Given the description of an element on the screen output the (x, y) to click on. 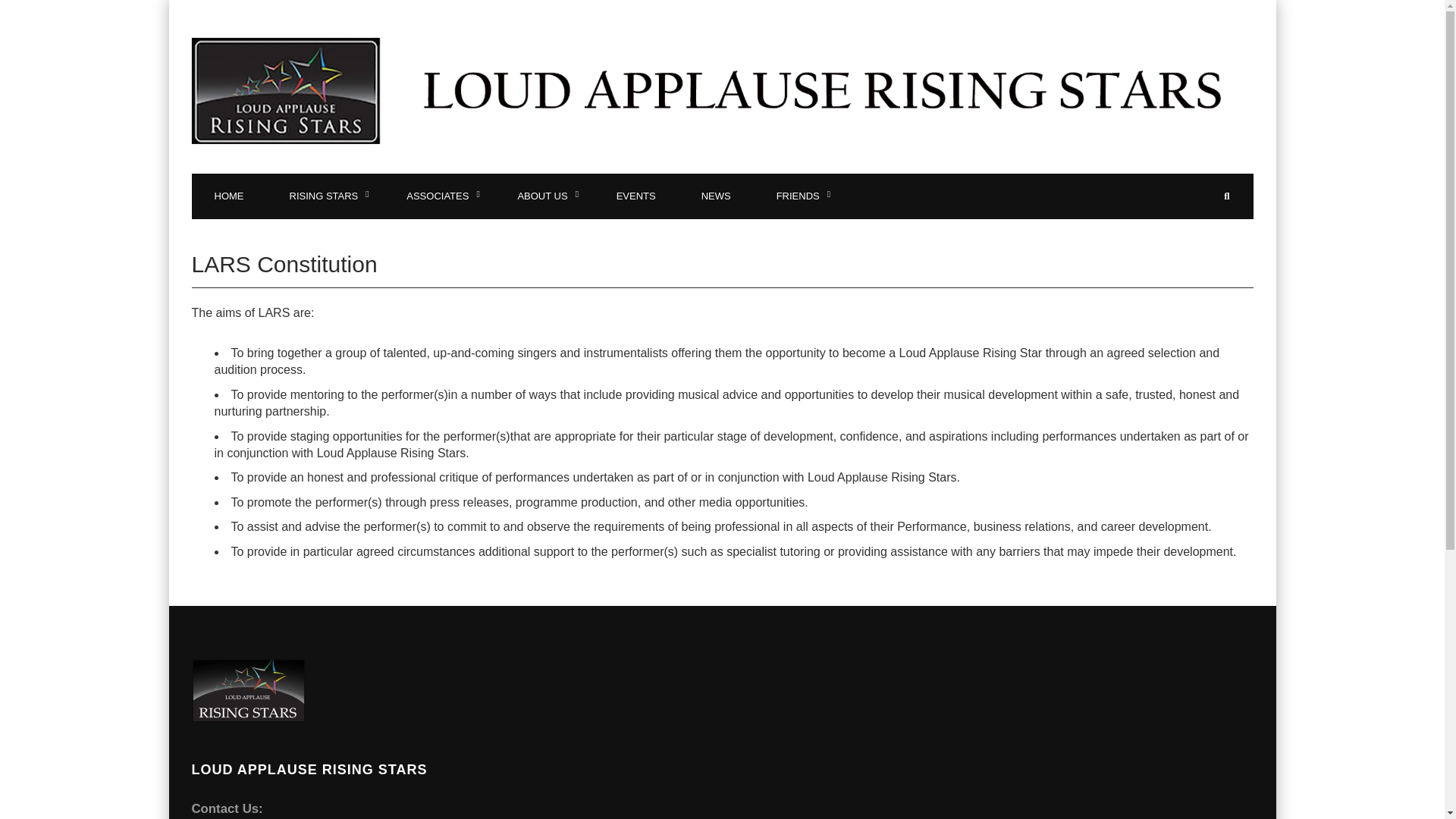
RISING STARS (325, 196)
NEWS (716, 196)
lars logo (247, 691)
HOME (228, 196)
FRIENDS (799, 196)
ABOUT US (543, 196)
ASSOCIATES (439, 196)
EVENTS (636, 196)
